Given the description of an element on the screen output the (x, y) to click on. 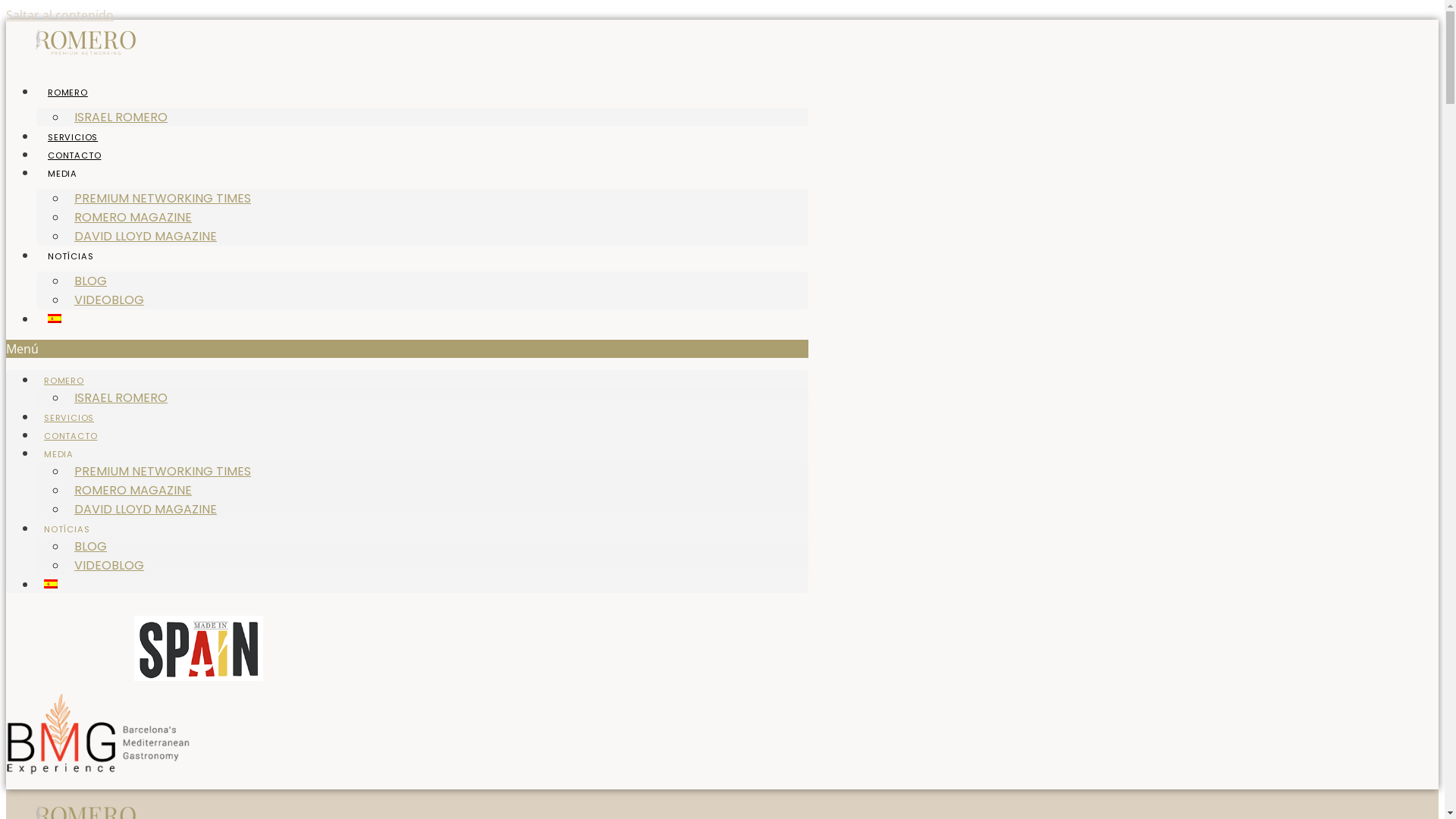
ROMERO MAGAZINE Element type: text (132, 490)
BLOG Element type: text (90, 546)
CONTACTO Element type: text (74, 155)
ROMERO Element type: text (67, 92)
MEDIA Element type: text (58, 453)
Saltar al contenido Element type: text (59, 14)
ISRAEL ROMERO Element type: text (120, 117)
DAVID LLOYD MAGAZINE Element type: text (145, 509)
CONTACTO Element type: text (70, 435)
ROMERO Element type: text (63, 380)
BLOG Element type: text (90, 280)
PREMIUM NETWORKING TIMES Element type: text (162, 198)
PREMIUM NETWORKING TIMES Element type: text (162, 471)
VIDEOBLOG Element type: text (108, 299)
SERVICIOS Element type: text (68, 417)
Logo_Romero_Premium_Networking Element type: hover (85, 42)
SERVICIOS Element type: text (72, 137)
ISRAEL ROMERO Element type: text (120, 397)
DAVID LLOYD MAGAZINE Element type: text (145, 236)
ROMERO MAGAZINE Element type: text (132, 217)
MEDIA Element type: text (62, 173)
VIDEOBLOG Element type: text (108, 565)
